Given the description of an element on the screen output the (x, y) to click on. 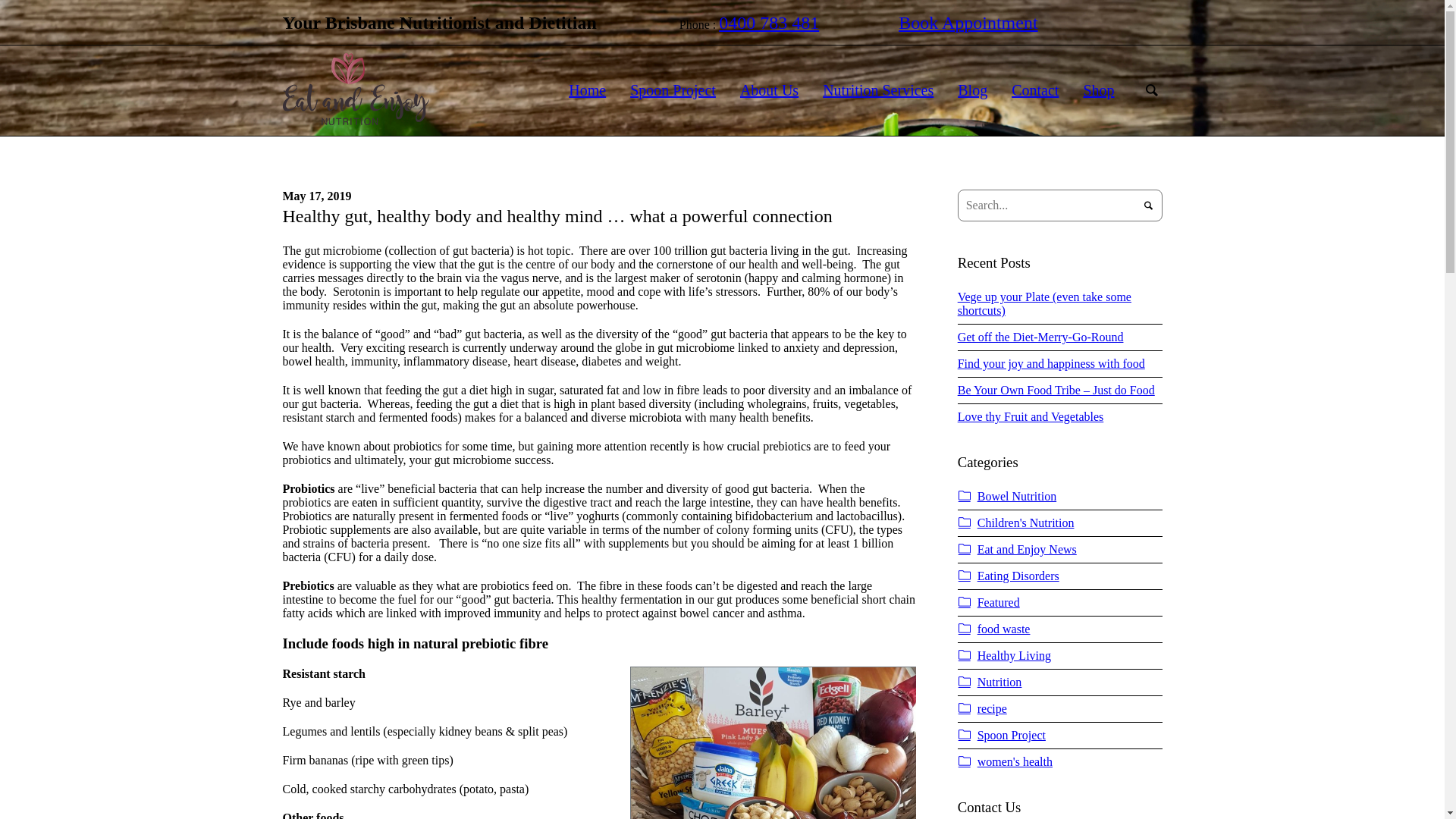
Book Appointment Element type: text (967, 22)
Contact Element type: text (1035, 90)
Healthy Living Element type: text (1012, 655)
Eating Disorders Element type: text (1016, 575)
Vege up your Plate (even take some shortcuts) Element type: text (1044, 303)
women's health Element type: text (1013, 761)
0400 783 481 Element type: text (768, 22)
Children's Nutrition Element type: text (1024, 522)
Nutrition Services Element type: text (877, 90)
Eat and Enjoy News Element type: text (1025, 548)
Spoon Project Element type: text (1009, 734)
Get off the Diet-Merry-Go-Round Element type: text (1040, 336)
Love thy Fruit and Vegetables Element type: text (1030, 416)
Blog Element type: text (972, 90)
Bowel Nutrition Element type: text (1015, 495)
Nutrition Element type: text (998, 681)
Spoon Project Element type: text (672, 90)
Find your joy and happiness with food Element type: text (1051, 363)
food waste Element type: text (1002, 628)
Shop Element type: text (1098, 90)
Home Element type: text (587, 90)
recipe Element type: text (990, 708)
Featured Element type: text (996, 602)
About Us Element type: text (768, 90)
